Given the description of an element on the screen output the (x, y) to click on. 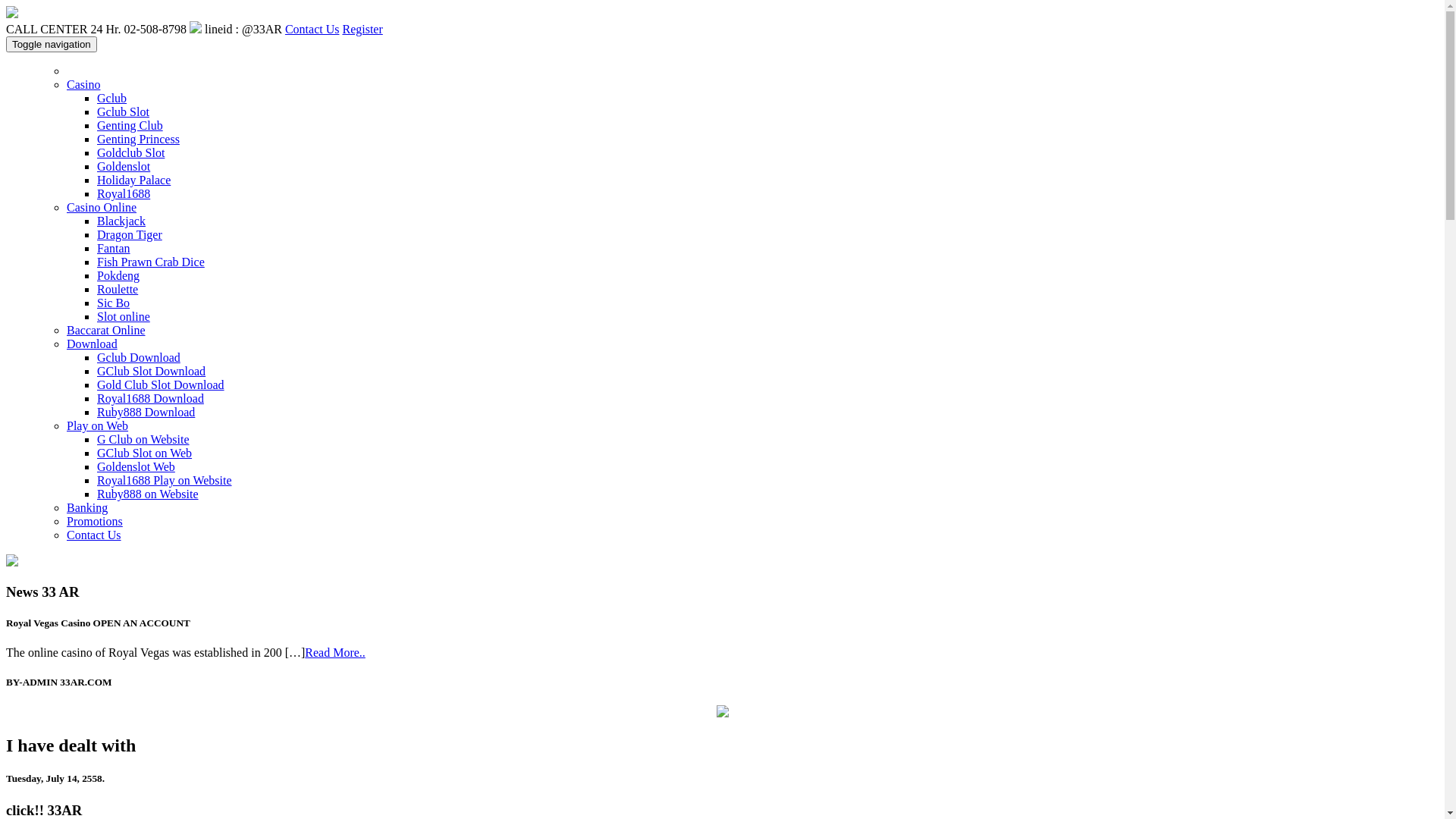
Banking Element type: text (86, 507)
Download Element type: text (91, 343)
Royal1688 Download Element type: text (150, 398)
Ruby888 Download Element type: text (145, 411)
Casino Element type: text (83, 84)
Goldclub Slot Element type: text (130, 152)
Baccarat Online Element type: text (105, 329)
Play on Web Element type: text (97, 425)
Promotions Element type: text (94, 520)
Genting Club Element type: text (130, 125)
Pokdeng Element type: text (118, 275)
Register Element type: text (362, 28)
Fish Prawn Crab Dice Element type: text (150, 261)
GClub Slot on Web Element type: text (144, 452)
Contact Us Element type: text (312, 28)
Royal1688 Play on Website Element type: text (164, 479)
Blackjack Element type: text (121, 220)
Goldenslot Element type: text (123, 166)
Genting Princess Element type: text (138, 138)
Royal1688 Element type: text (123, 193)
Ruby888 on Website Element type: text (147, 493)
Holiday Palace Element type: text (133, 179)
Gclub Download Element type: text (138, 357)
Contact Us Element type: text (93, 534)
Casino Online Element type: text (101, 206)
Slot online Element type: text (123, 316)
GClub Slot Download Element type: text (151, 370)
Roulette Element type: text (117, 288)
Read More.. Element type: text (334, 652)
Gclub Element type: text (111, 97)
Dragon Tiger Element type: text (129, 234)
G Club on Website Element type: text (143, 439)
Gold Club Slot Download Element type: text (160, 384)
Fantan Element type: text (113, 247)
Toggle navigation Element type: text (51, 44)
Goldenslot Web Element type: text (136, 466)
Gclub Slot Element type: text (123, 111)
Sic Bo Element type: text (113, 302)
